Given the description of an element on the screen output the (x, y) to click on. 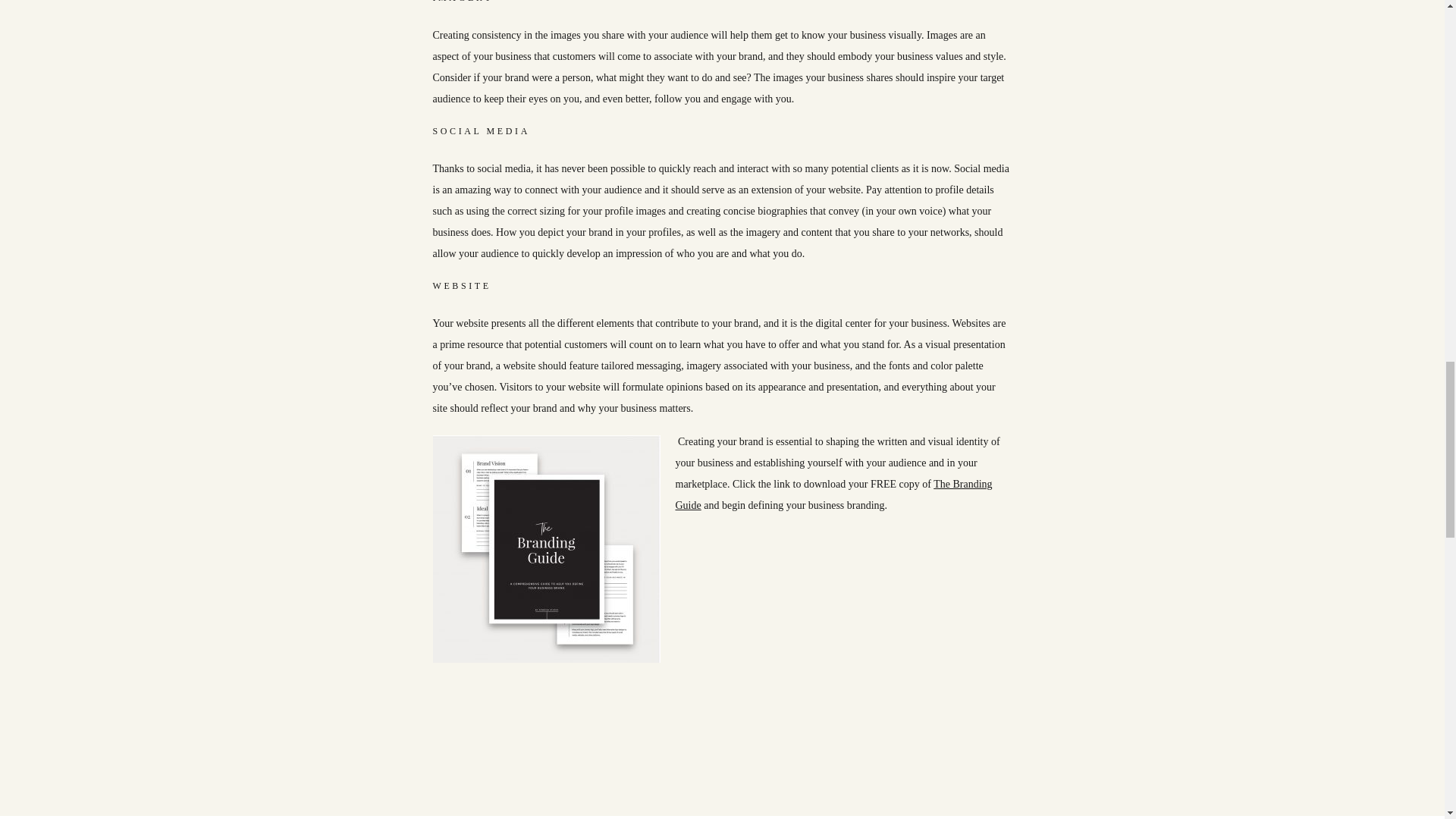
The Branding Guide (833, 494)
